Given the description of an element on the screen output the (x, y) to click on. 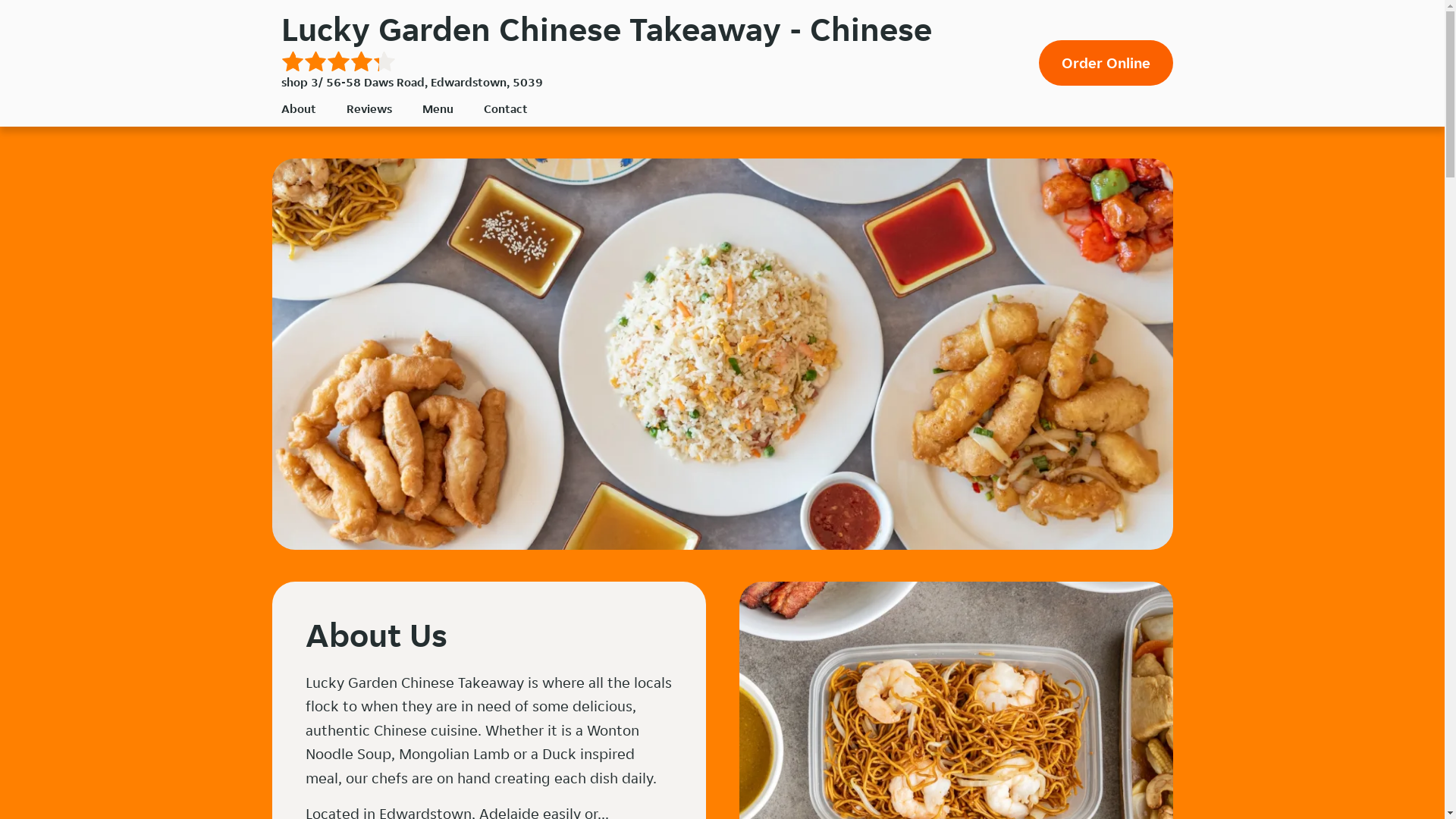
Reviews Element type: text (368, 108)
Order Online Element type: text (1105, 62)
About Element type: text (297, 108)
Menu Element type: text (436, 108)
Contact Element type: text (505, 108)
